Given the description of an element on the screen output the (x, y) to click on. 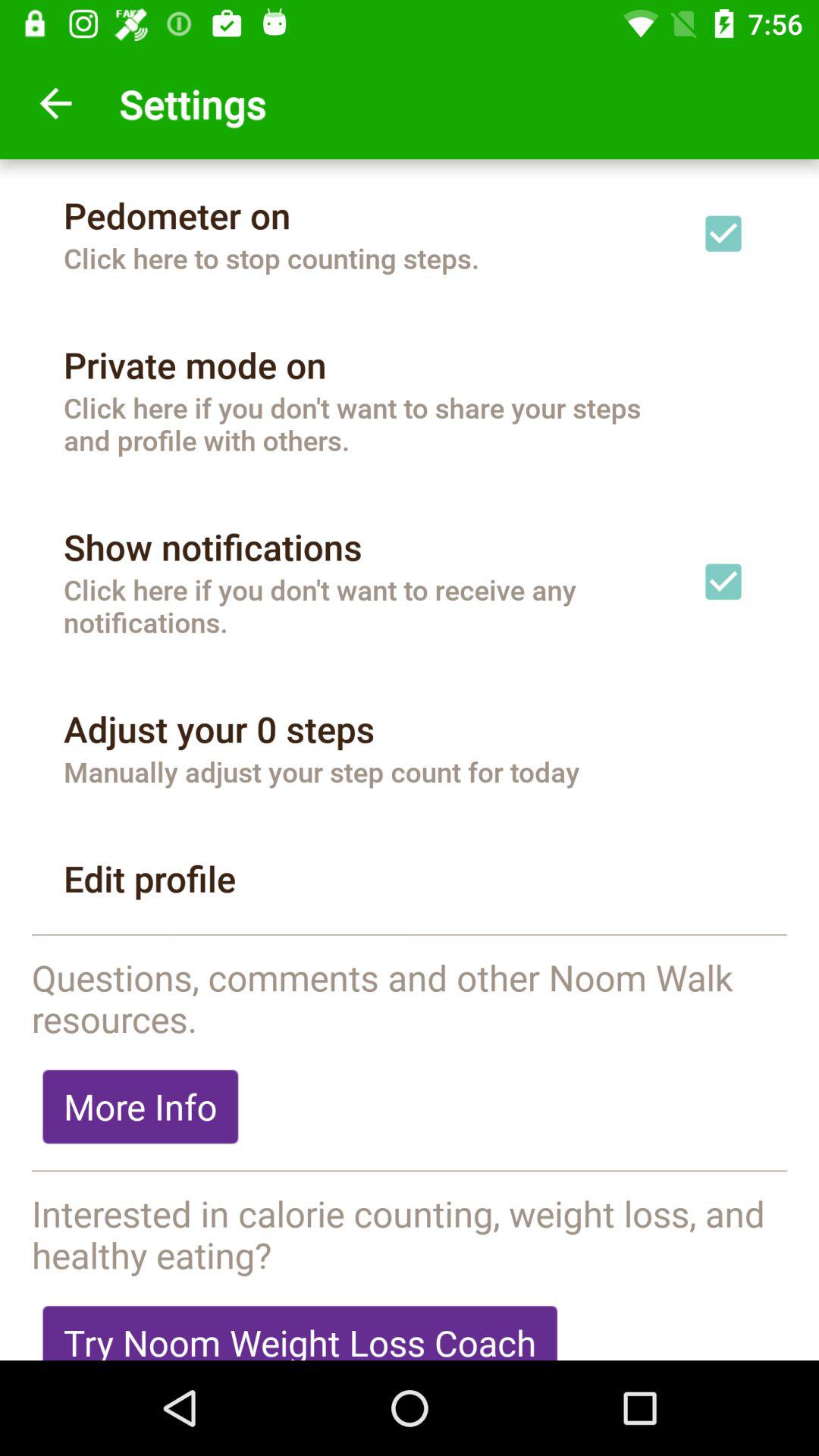
swipe until show notifications icon (212, 546)
